Given the description of an element on the screen output the (x, y) to click on. 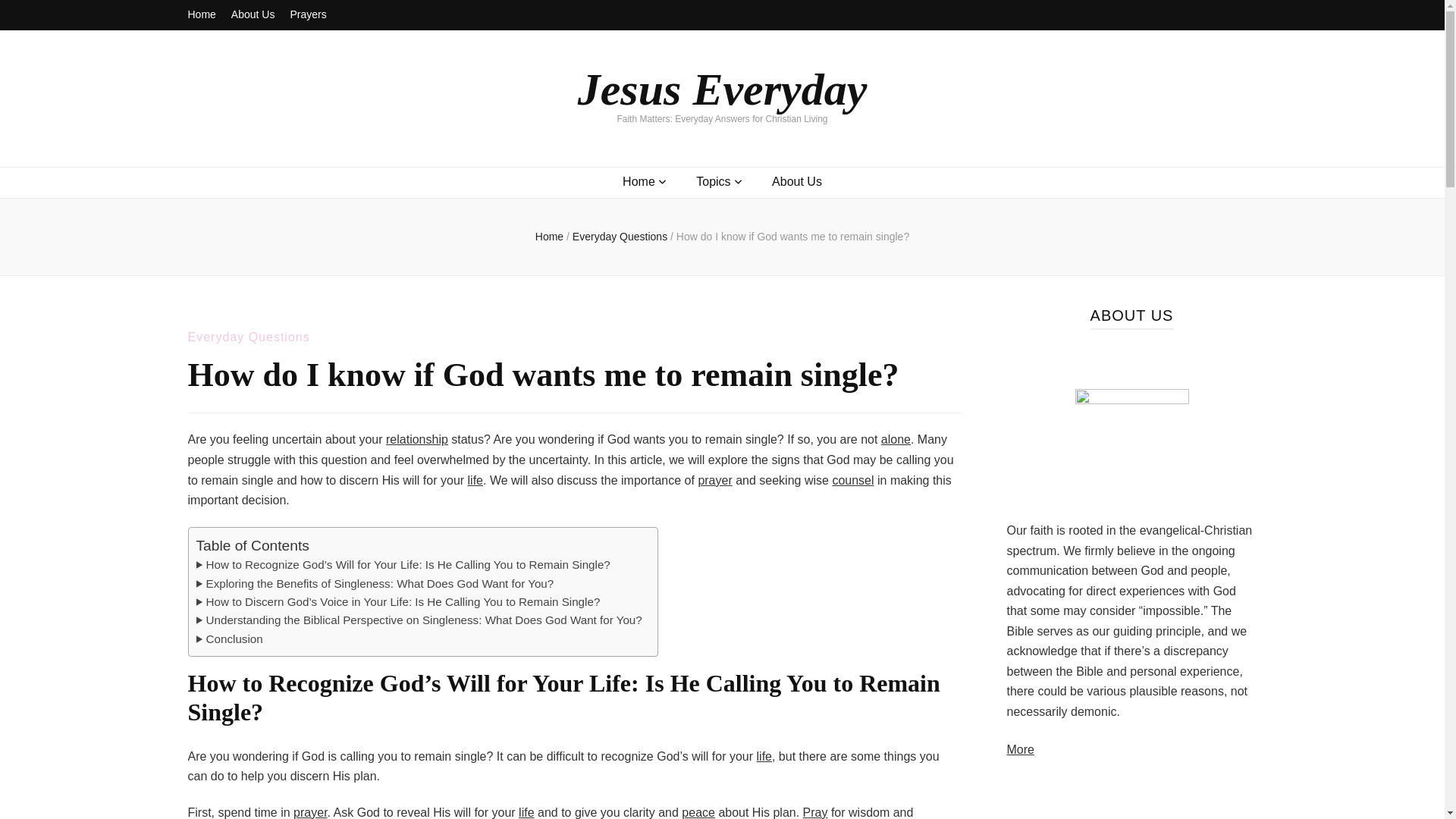
life (475, 480)
About Us (253, 15)
alone (895, 439)
Home (201, 15)
Prayers (307, 15)
Everyday Questions (620, 236)
Topics (712, 181)
How do I know if God wants me to remain single? (792, 236)
About Us (796, 181)
